Given the description of an element on the screen output the (x, y) to click on. 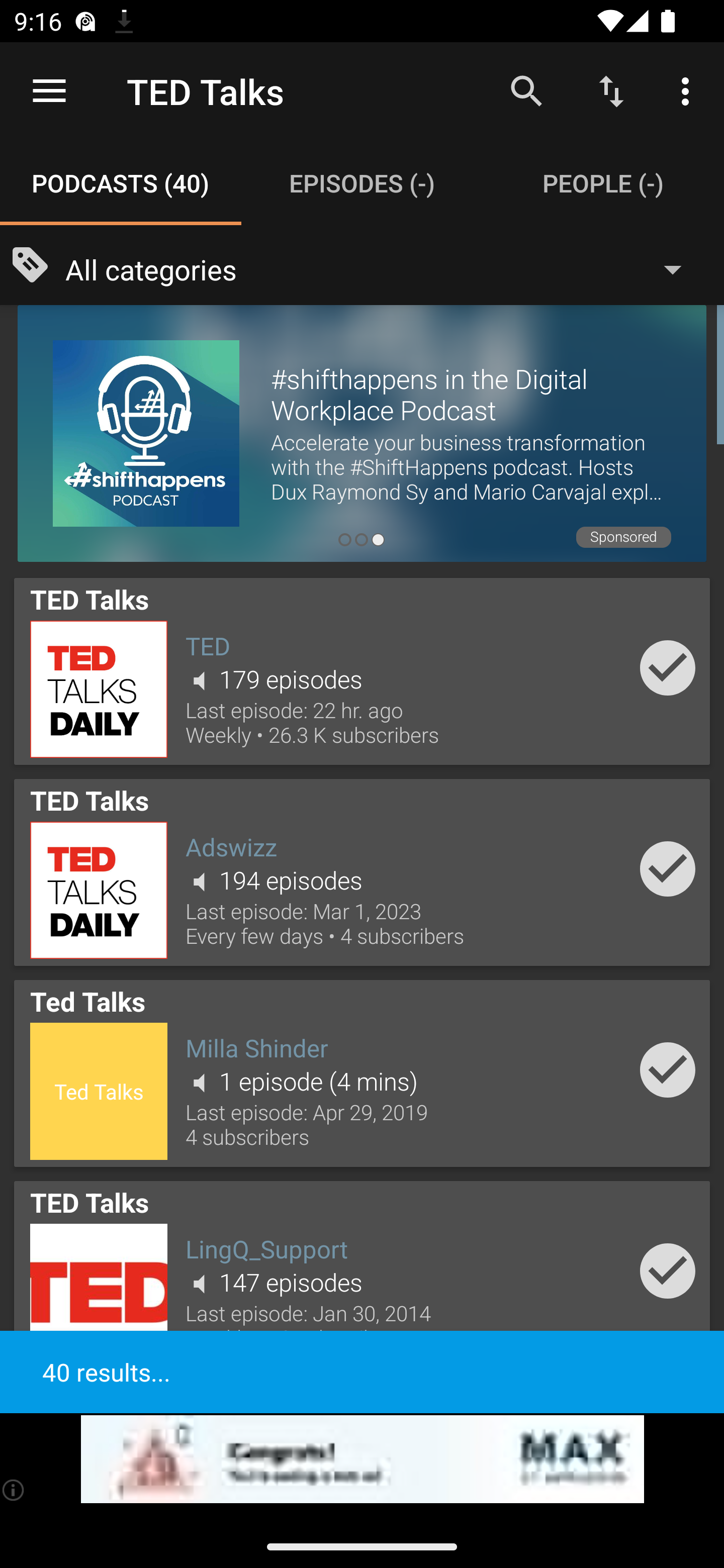
Open navigation sidebar (49, 91)
Search (526, 90)
Sort (611, 90)
More options (688, 90)
Episodes (-) EPISODES (-) (361, 183)
People (-) PEOPLE (-) (603, 183)
All categories (383, 268)
Add (667, 667)
Add (667, 868)
Add (667, 1069)
Add (667, 1271)
app-monetization (362, 1459)
(i) (14, 1489)
